Given the description of an element on the screen output the (x, y) to click on. 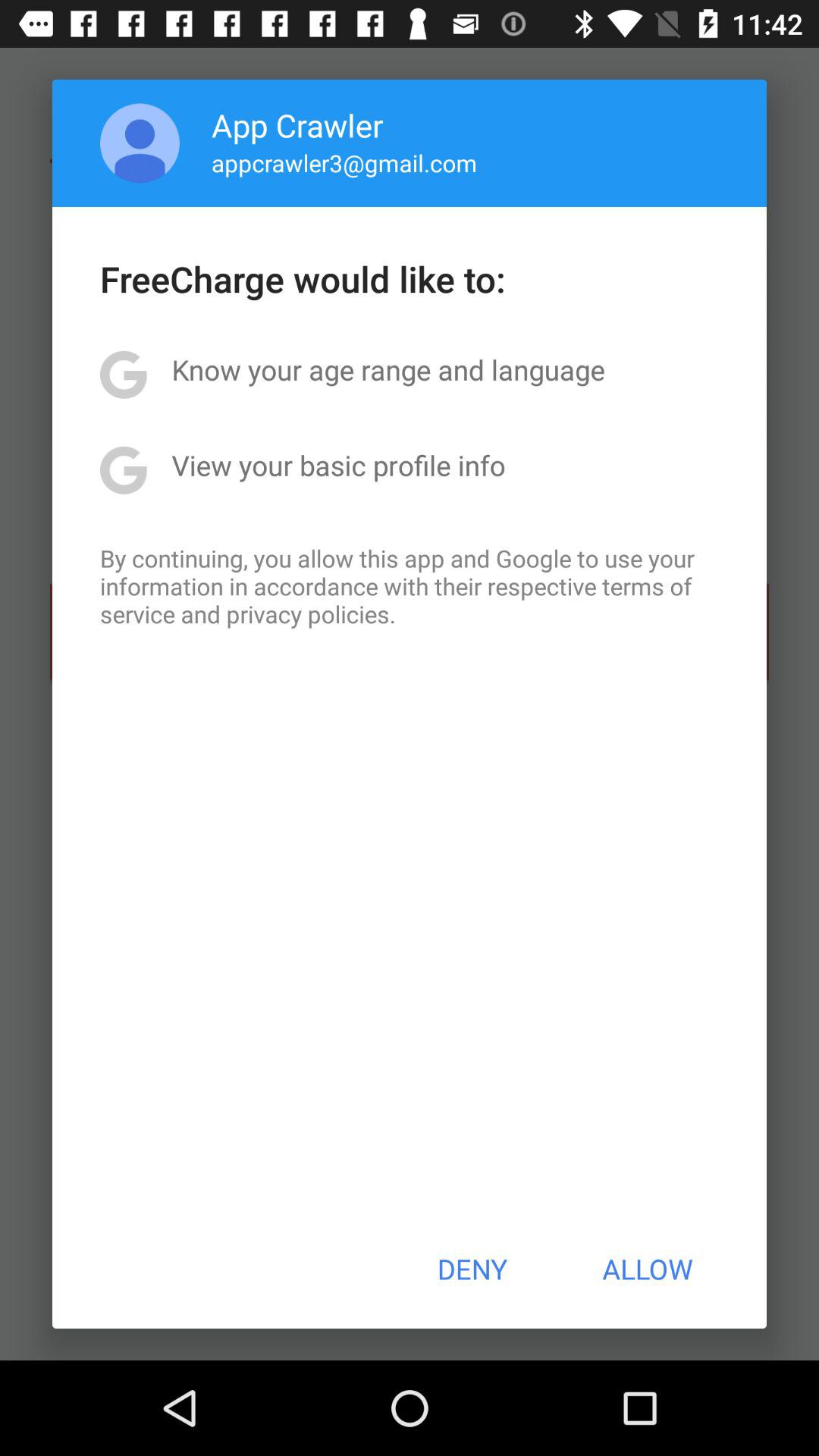
launch app crawler (297, 124)
